Given the description of an element on the screen output the (x, y) to click on. 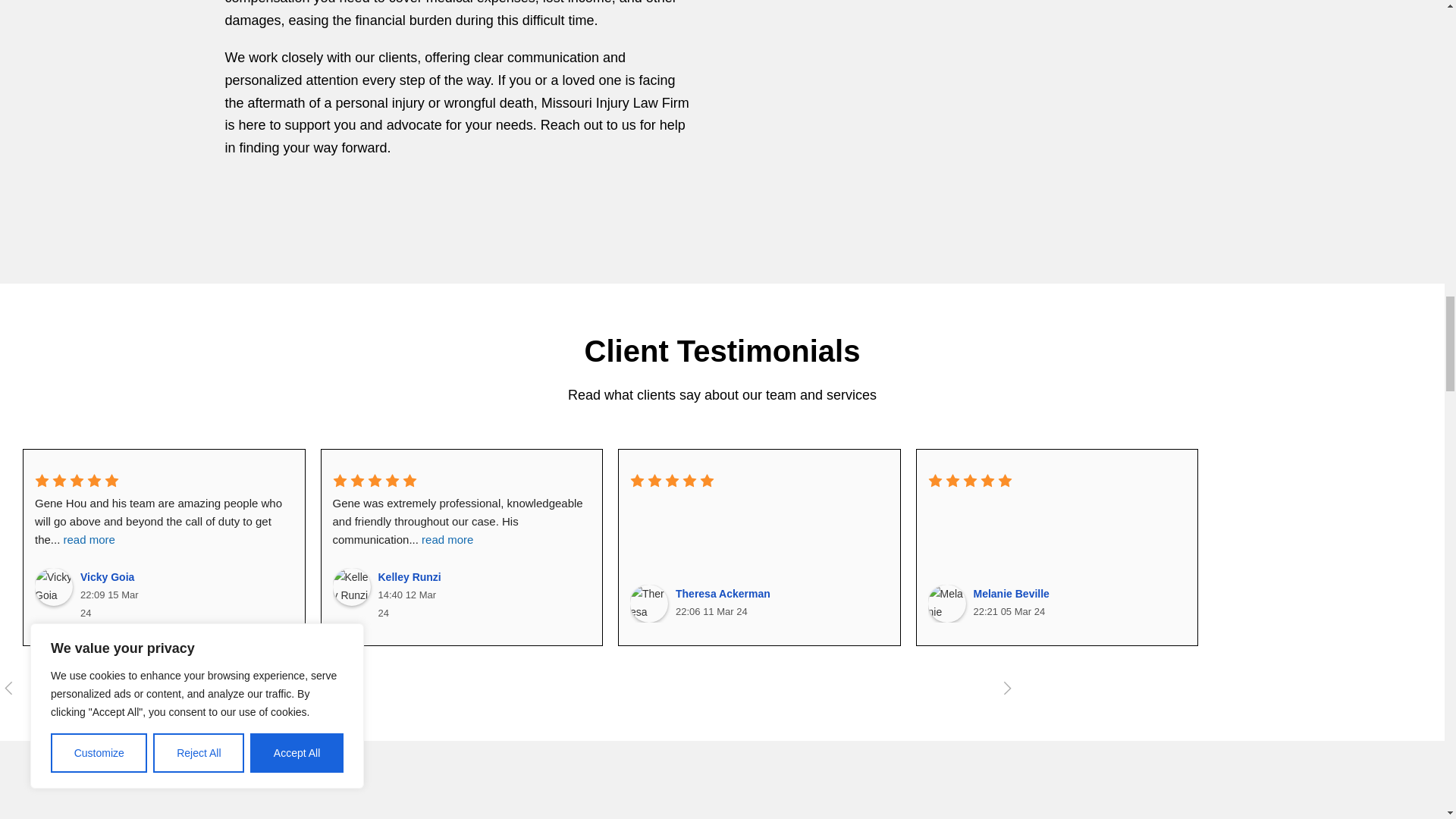
Kelley Runzi (350, 587)
Vicky Goia (53, 587)
Theresa Ackerman (649, 603)
Melanie Beville (947, 603)
George VanMeter (1244, 603)
